Given the description of an element on the screen output the (x, y) to click on. 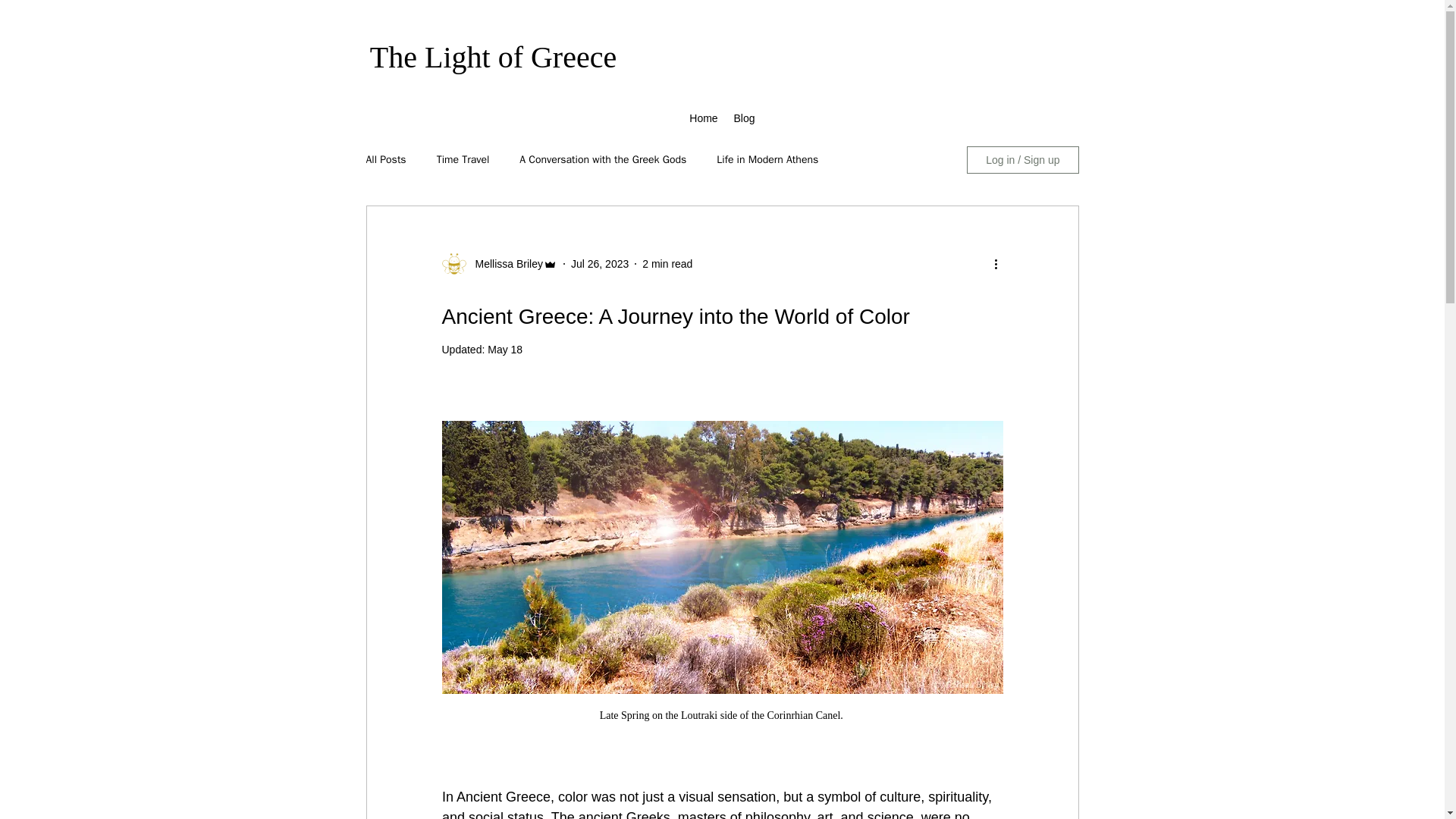
A Conversation with the Greek Gods (602, 160)
Life in Modern Athens (767, 160)
2 min read (667, 263)
Blog (743, 118)
Home (703, 118)
Time Travel (462, 160)
All Posts (385, 160)
May 18 (504, 349)
Mellissa Briley (503, 263)
Jul 26, 2023 (599, 263)
